Given the description of an element on the screen output the (x, y) to click on. 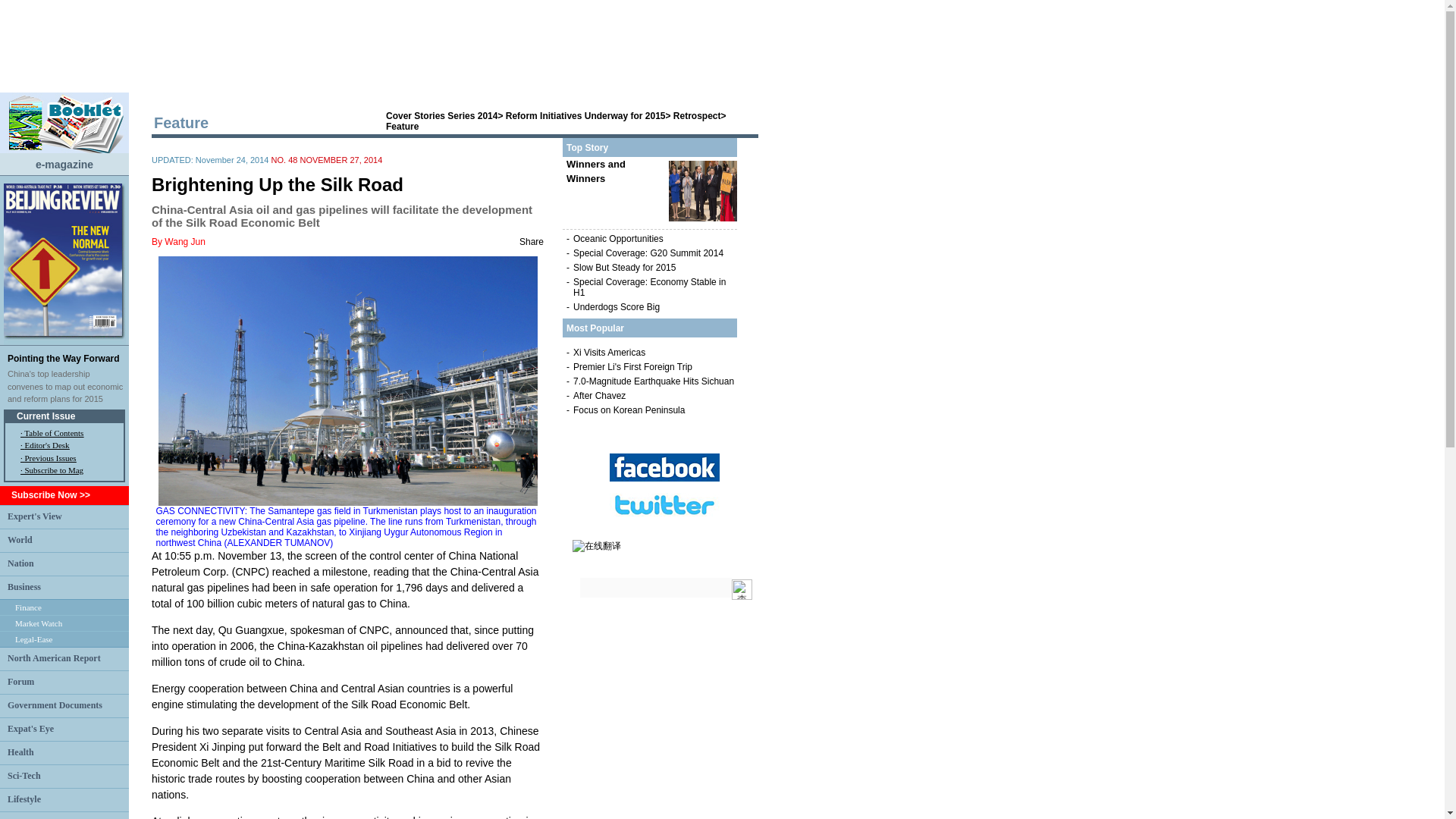
Cover Stories Series 2014 (441, 115)
Previous Issues (49, 457)
Books (18, 818)
Table of Contents (53, 431)
Lifestyle (23, 798)
Pointing the Way Forward (63, 357)
Business (23, 586)
Nation (20, 562)
Health (20, 751)
e-magazine (63, 163)
North American Report (53, 657)
Forum (20, 681)
Government Documents (54, 705)
Finance (28, 605)
